Given the description of an element on the screen output the (x, y) to click on. 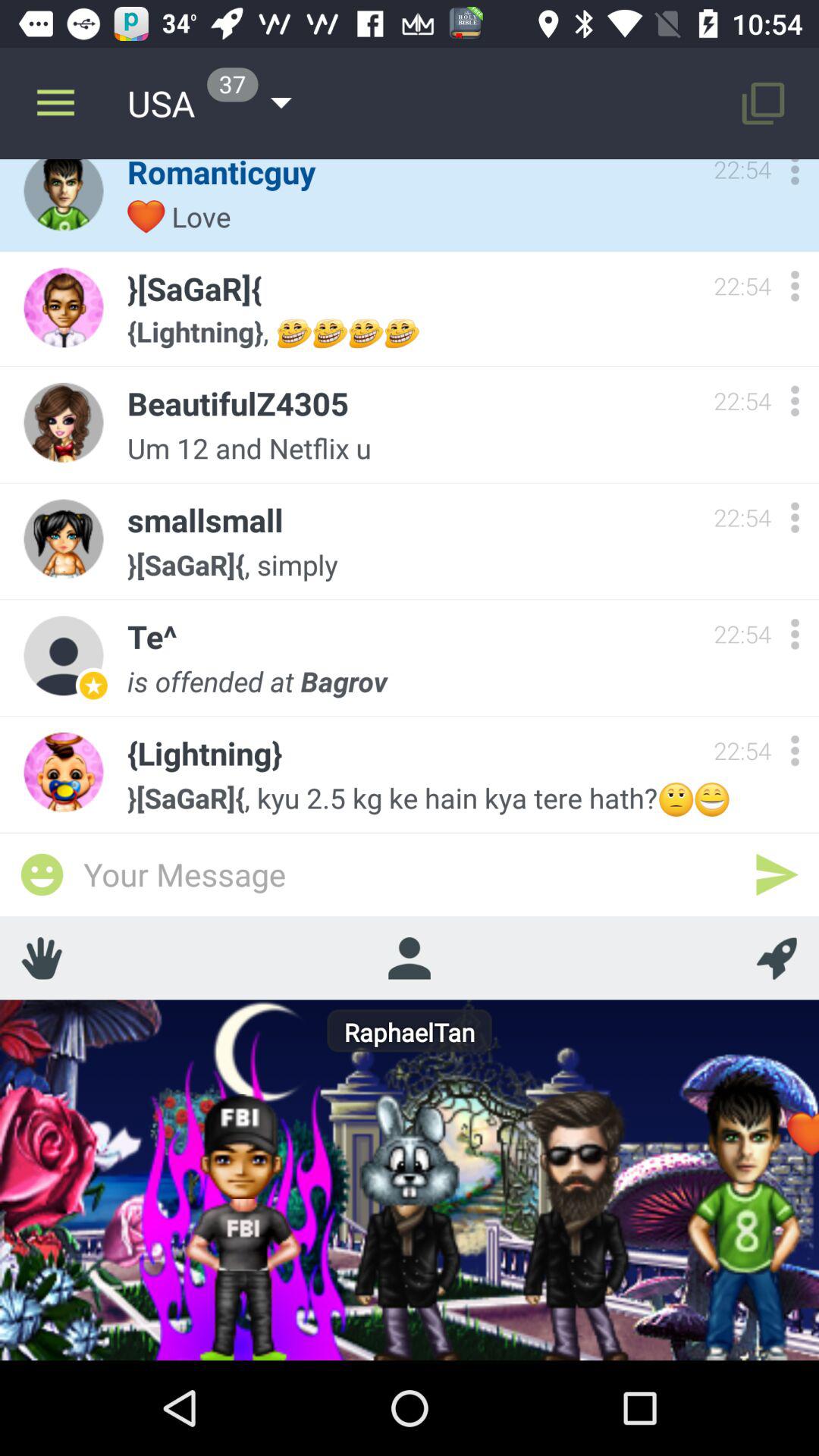
shows expand icon (795, 285)
